Given the description of an element on the screen output the (x, y) to click on. 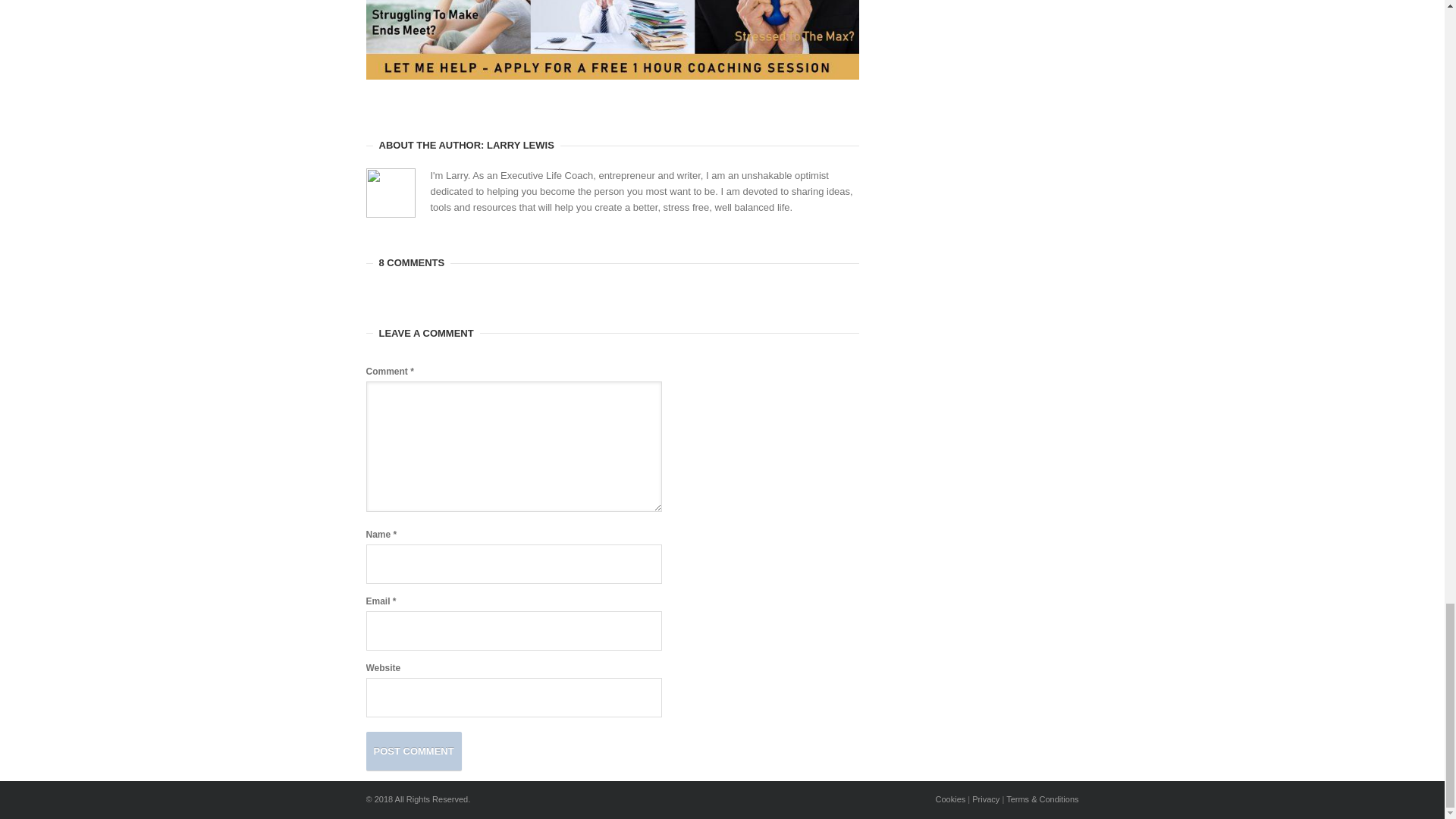
Post Comment (413, 751)
